Given the description of an element on the screen output the (x, y) to click on. 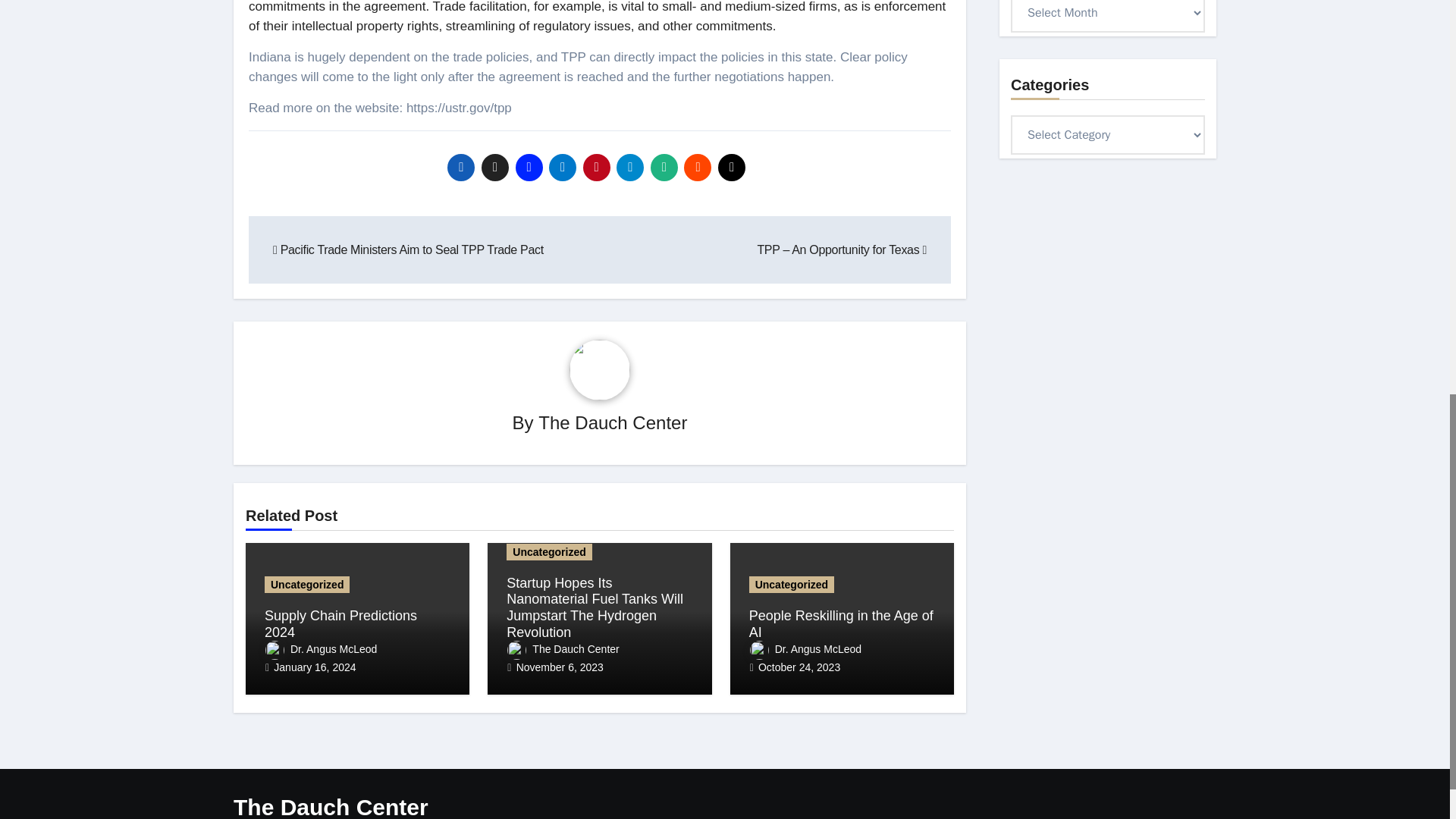
The Dauch Center (612, 422)
The Dauch Center (562, 648)
Uncategorized (548, 551)
Dr. Angus McLeod (320, 648)
Supply Chain Predictions 2024 (340, 623)
Pacific Trade Ministers Aim to Seal TPP Trade Pact (408, 249)
January 16, 2024 (314, 666)
Permalink to: People Reskilling in the Age of AI (841, 623)
